Given the description of an element on the screen output the (x, y) to click on. 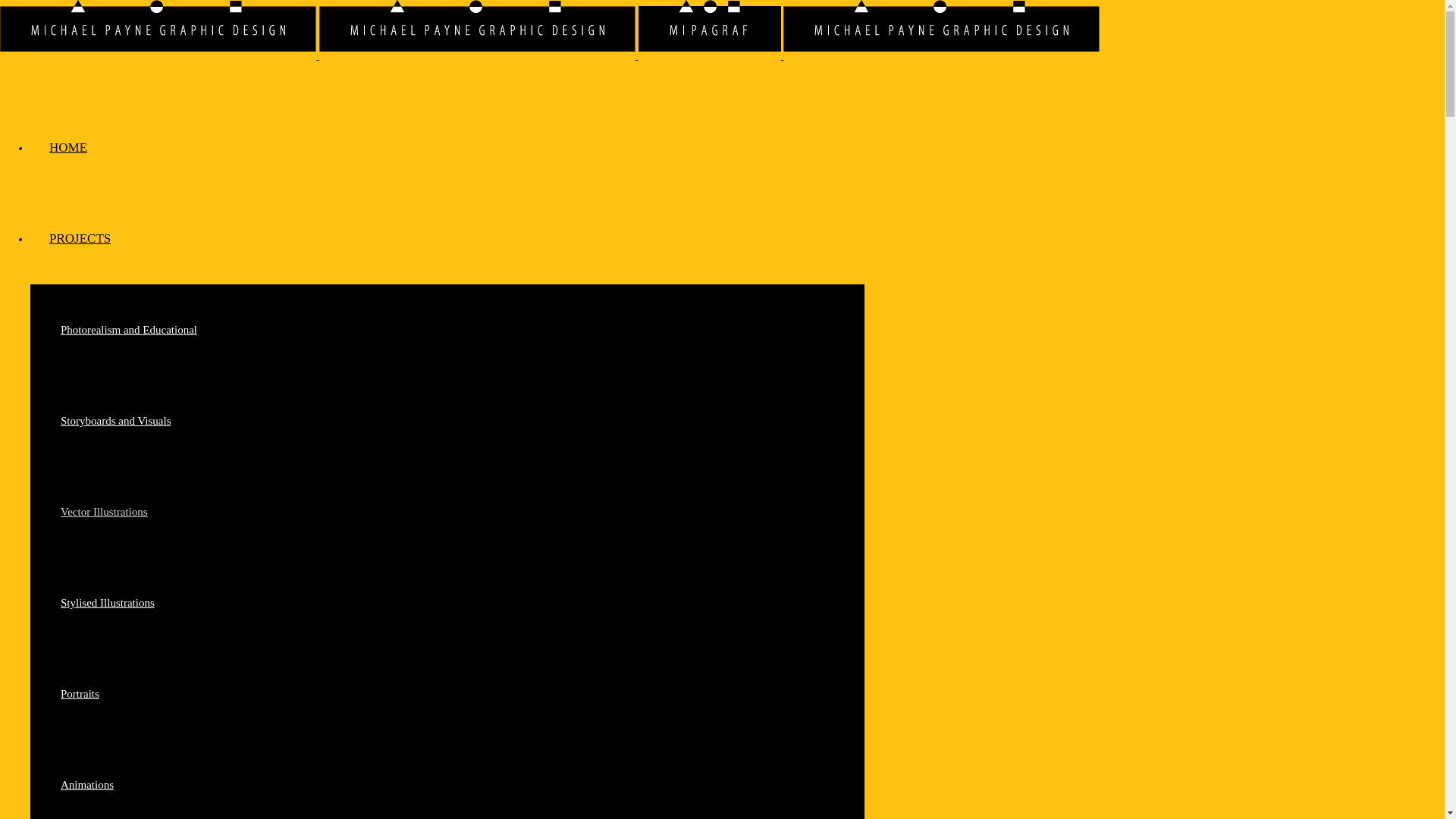
Illustrator & Graphic Designer Element type: hover (709, 29)
Vector Illustrations Element type: text (103, 511)
Animations Element type: text (86, 784)
Stylised Illustrations Element type: text (107, 602)
Illustrator & Graphic Designer Element type: hover (158, 29)
HOME Element type: text (68, 146)
Photorealism and Educational Element type: text (128, 329)
PROJECTS Element type: text (79, 237)
Portraits Element type: text (79, 693)
Storyboards and Visuals Element type: text (115, 420)
Illustrator & Graphic Designer Element type: hover (941, 29)
Illustrator & Graphic Designer Element type: hover (477, 29)
Michael Payne Element type: hover (549, 55)
